Given the description of an element on the screen output the (x, y) to click on. 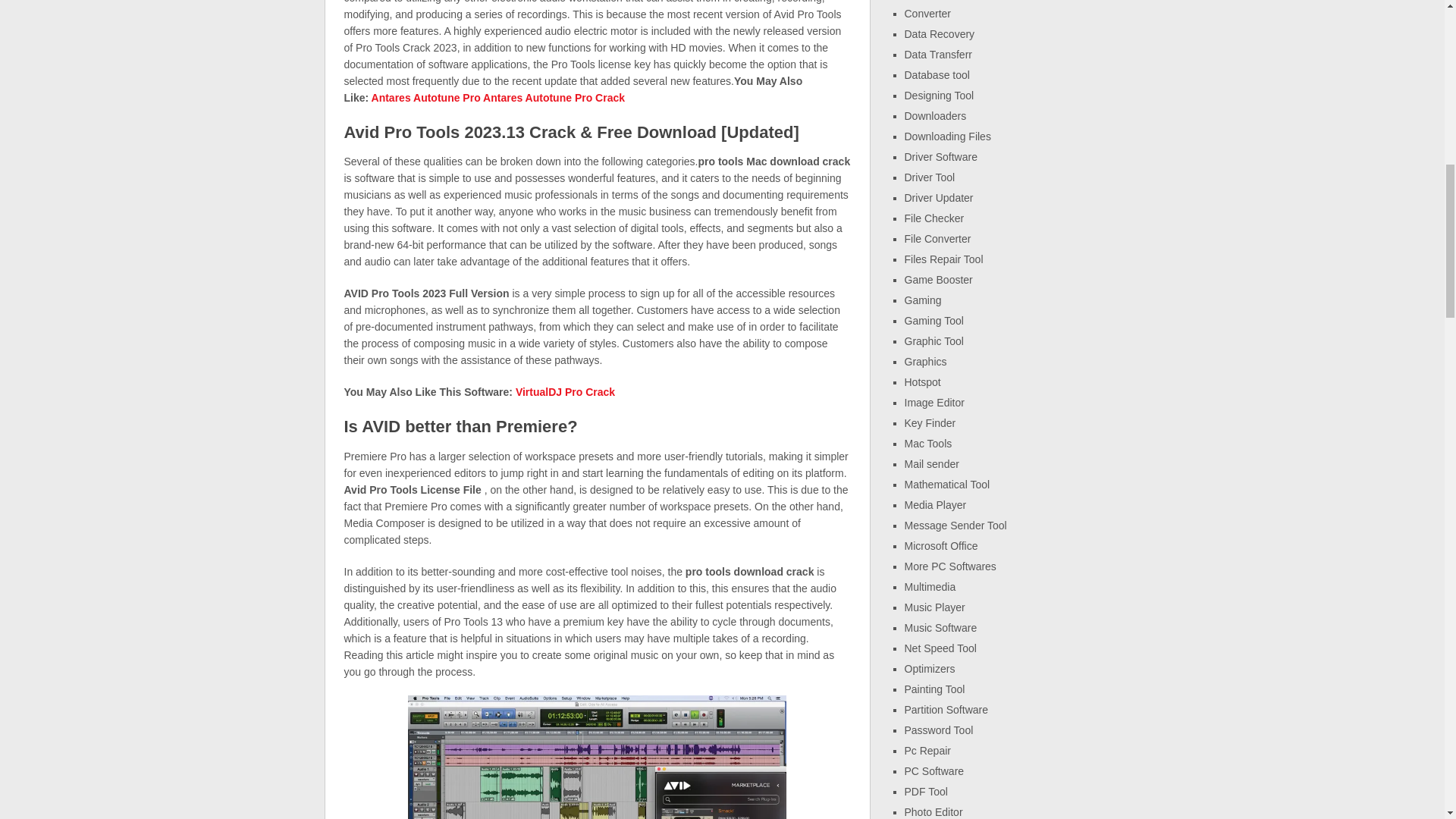
VirtualDJ Pro Crack (564, 391)
Antares Autotune Pro Antares Autotune Pro Crack (498, 97)
